Given the description of an element on the screen output the (x, y) to click on. 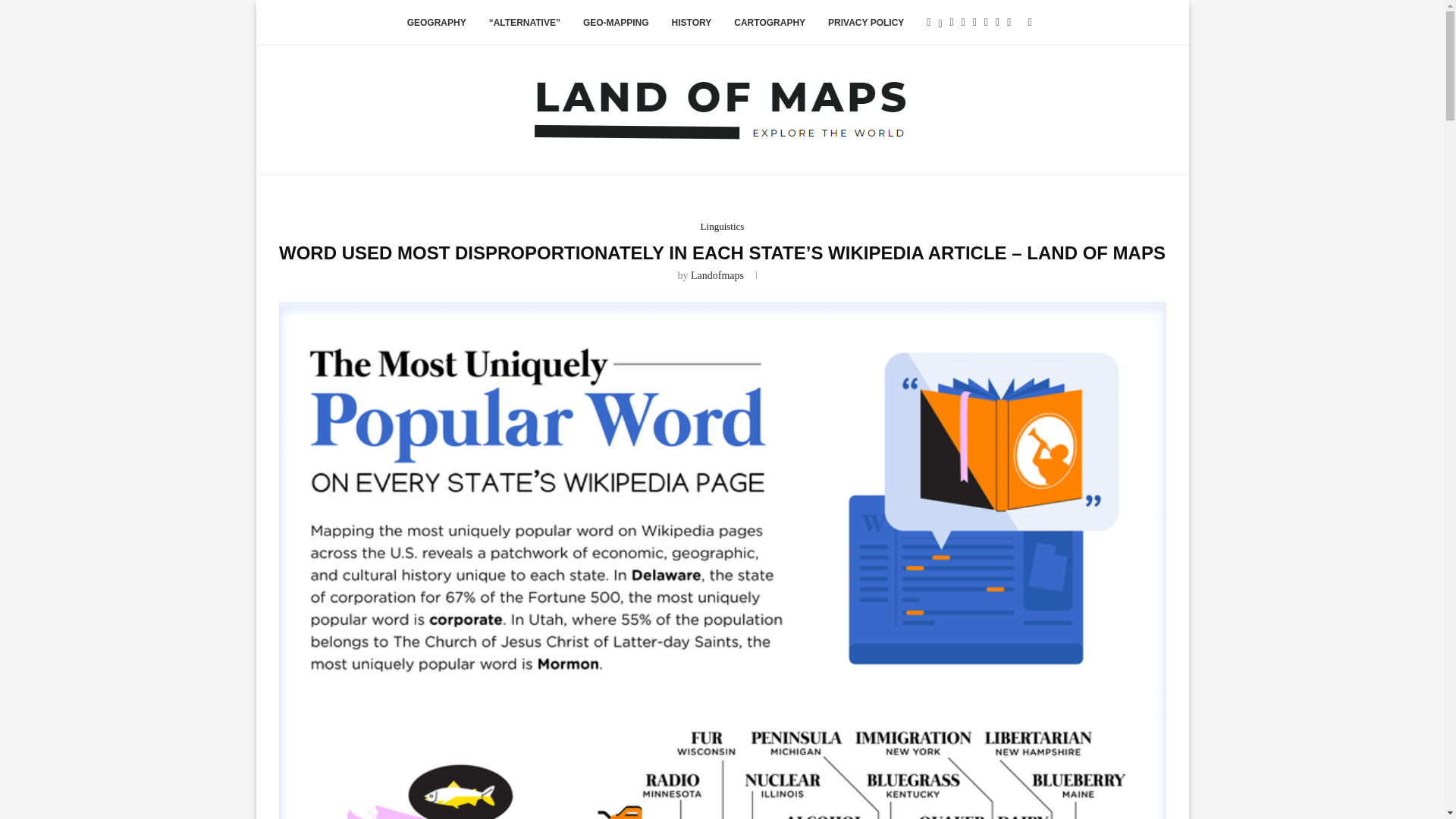
GEO-MAPPING (616, 22)
HISTORY (691, 22)
PRIVACY POLICY (866, 22)
Landofmaps (717, 275)
Linguistics (722, 226)
GEOGRAPHY (436, 22)
CARTOGRAPHY (769, 22)
